Given the description of an element on the screen output the (x, y) to click on. 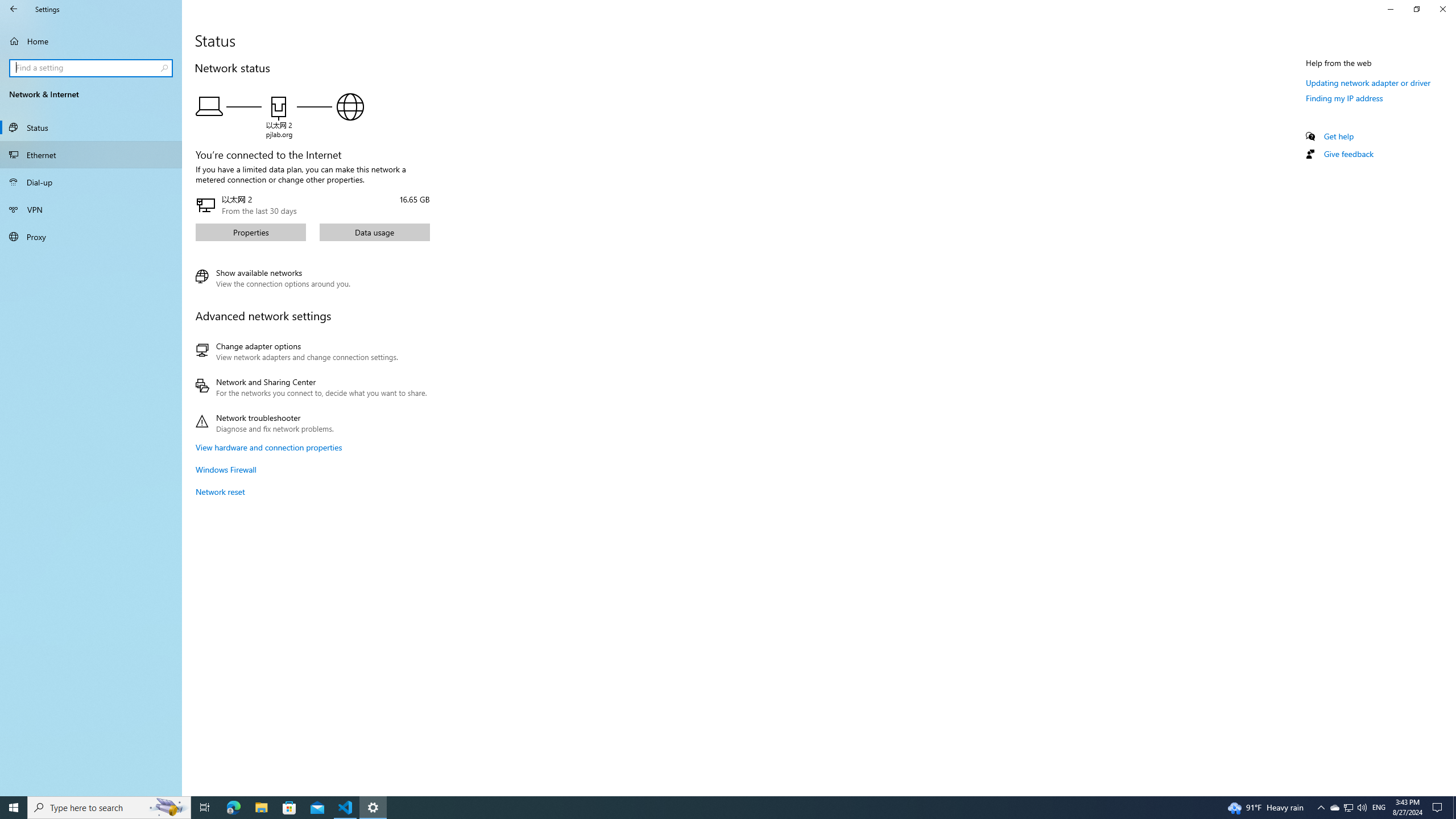
Updating network adapter or driver (1368, 82)
Status (91, 126)
Give feedback (1348, 153)
Show available networks (272, 278)
Ethernet (91, 154)
Network reset (219, 491)
